Given the description of an element on the screen output the (x, y) to click on. 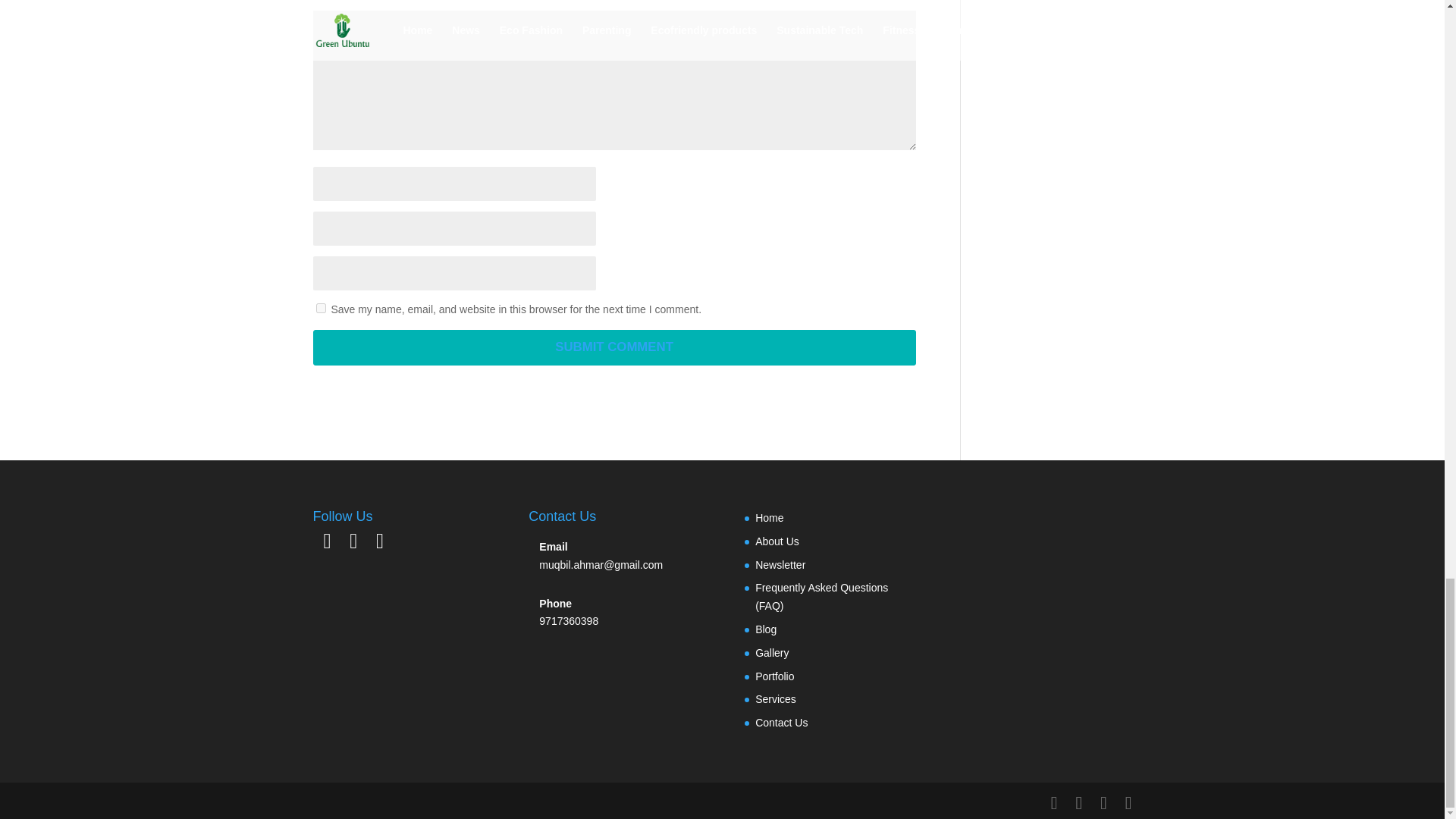
Visit Green Ubuntu on Facebook (379, 544)
Submit Comment (614, 347)
Visit Green Ubuntu on LinkedIn (326, 544)
Visit Green Ubuntu on Twitter (352, 544)
yes (319, 307)
